Given the description of an element on the screen output the (x, y) to click on. 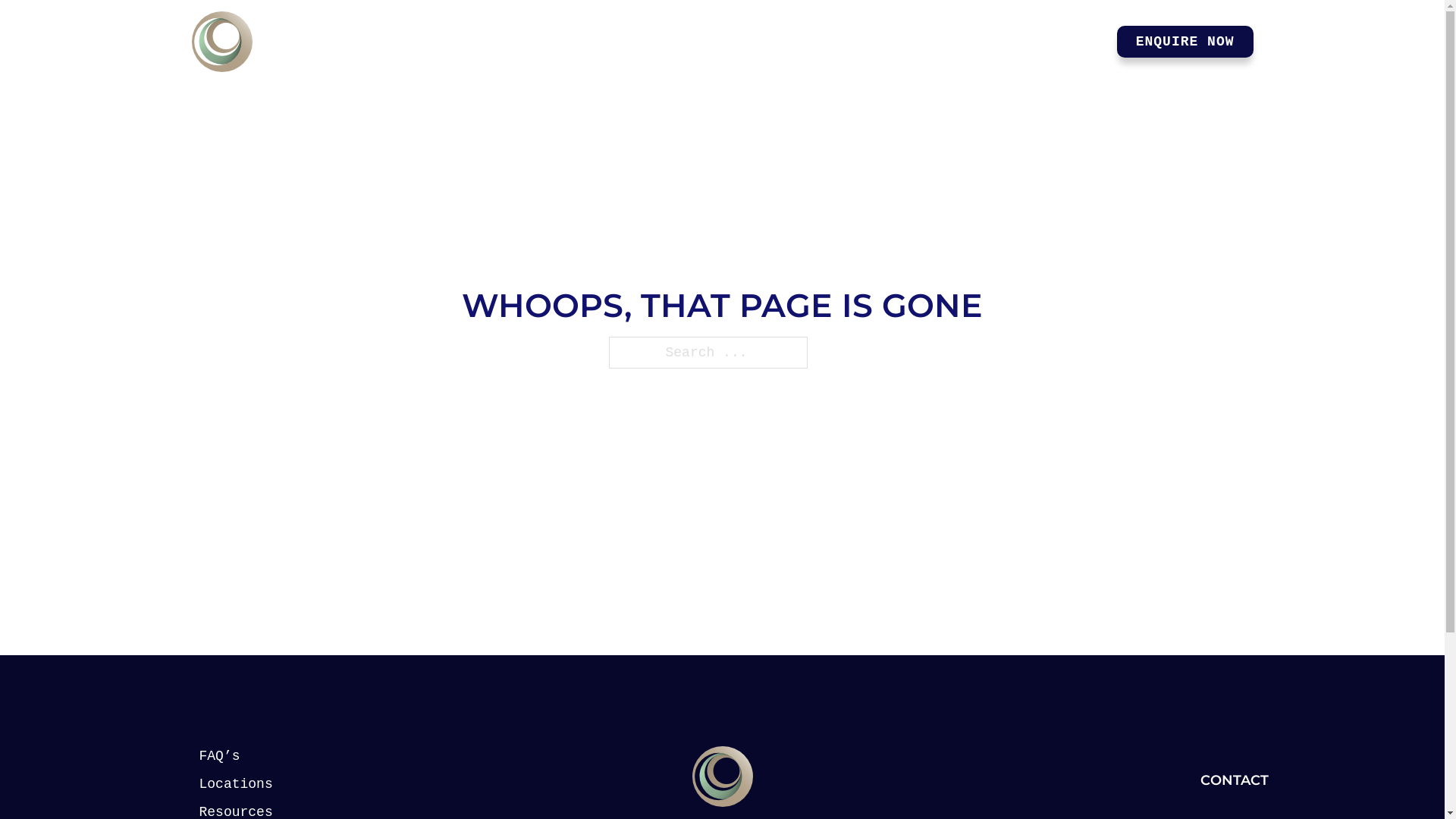
SERVICES Element type: text (748, 41)
PRICING Element type: text (856, 41)
Locations Element type: text (251, 784)
HOME Element type: text (672, 41)
ENQUIRE NOW Element type: text (1185, 41)
ABOUT Element type: text (1071, 41)
PORTFOLIO Element type: text (968, 41)
